Given the description of an element on the screen output the (x, y) to click on. 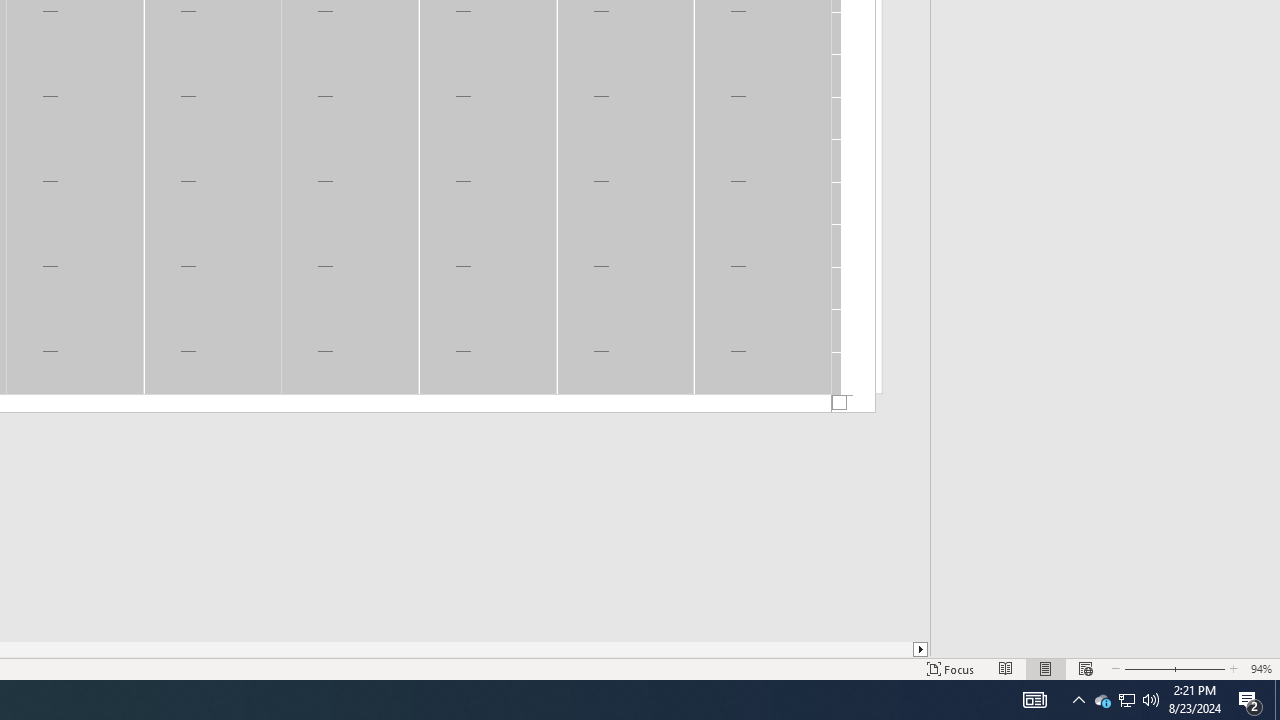
Column right (921, 649)
